Given the description of an element on the screen output the (x, y) to click on. 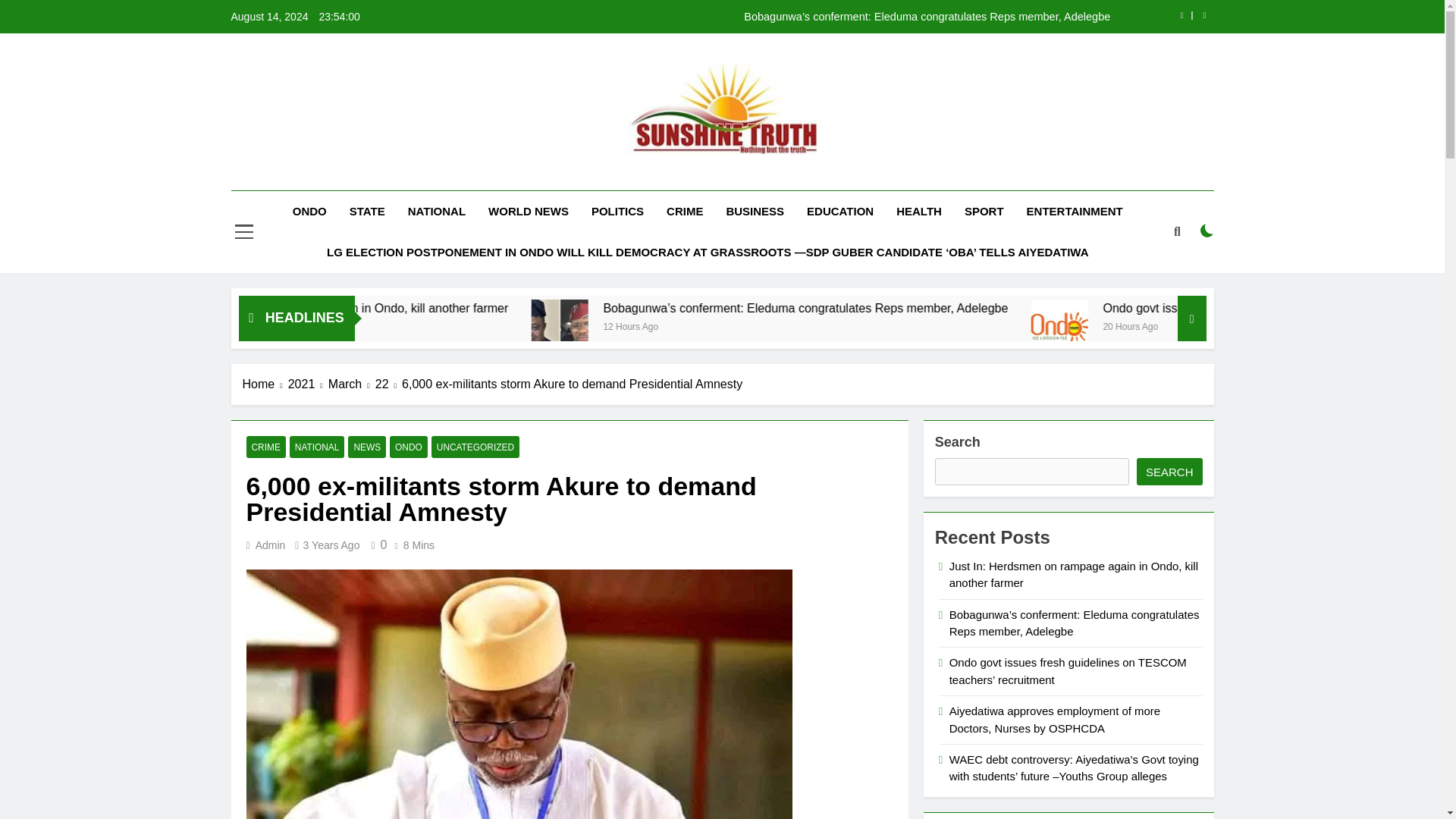
EDUCATION (839, 210)
WORLD NEWS (528, 210)
BUSINESS (754, 210)
HEALTH (919, 210)
Sunshine Truth (593, 176)
NATIONAL (436, 210)
STATE (366, 210)
SPORT (983, 210)
ONDO (309, 210)
